Given the description of an element on the screen output the (x, y) to click on. 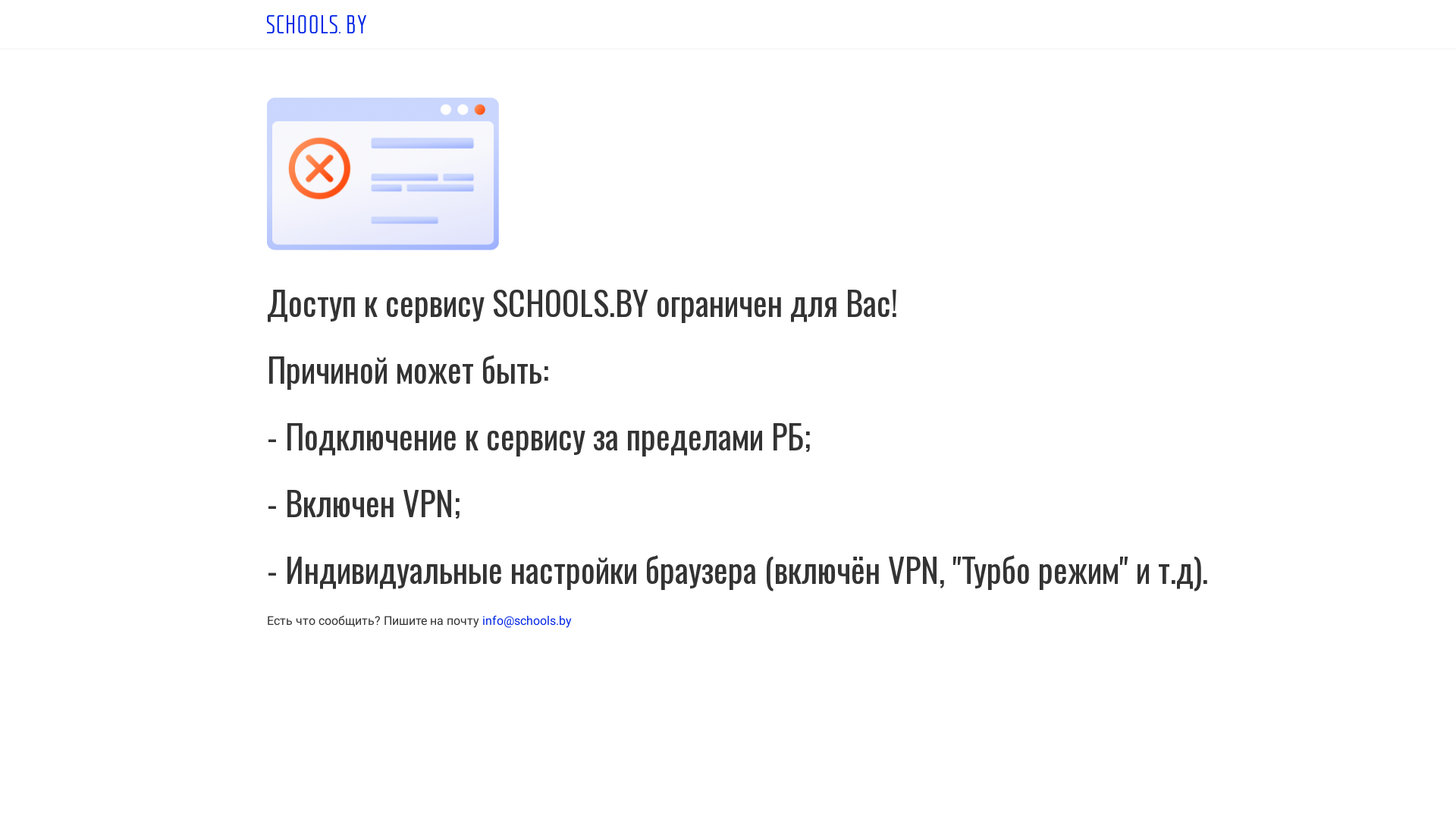
info@schools.by Element type: text (526, 620)
